Given the description of an element on the screen output the (x, y) to click on. 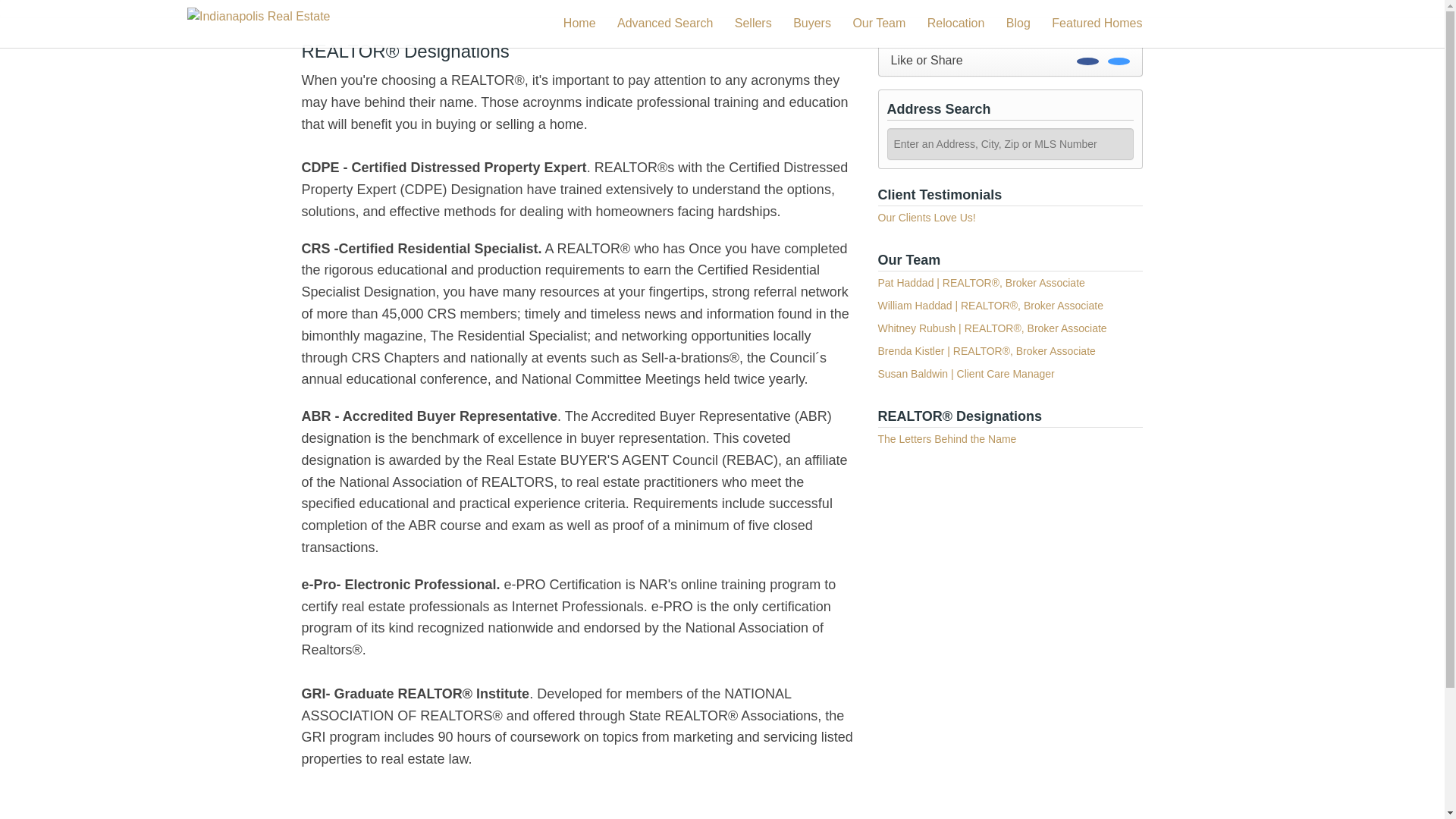
Our Clients Love Us! (926, 217)
Buyers (812, 22)
Our Team (878, 22)
Advanced Search (665, 22)
Featured Homes (1096, 22)
The Letters Behind the Name (946, 439)
Indianapolis Real Estate (258, 23)
Sellers (753, 22)
Blog (1018, 22)
Home (579, 22)
